Given the description of an element on the screen output the (x, y) to click on. 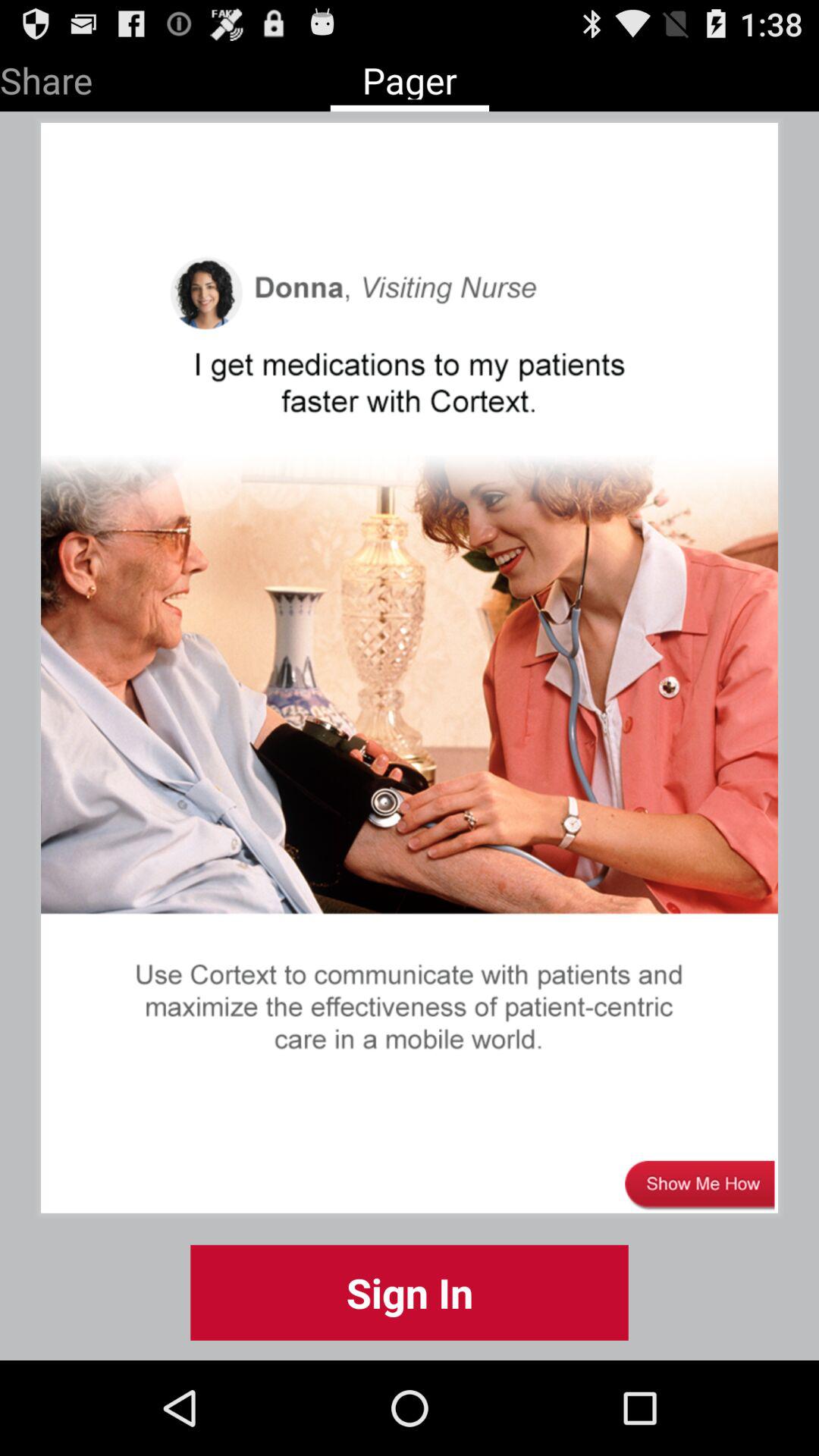
choose sign in icon (409, 1292)
